Given the description of an element on the screen output the (x, y) to click on. 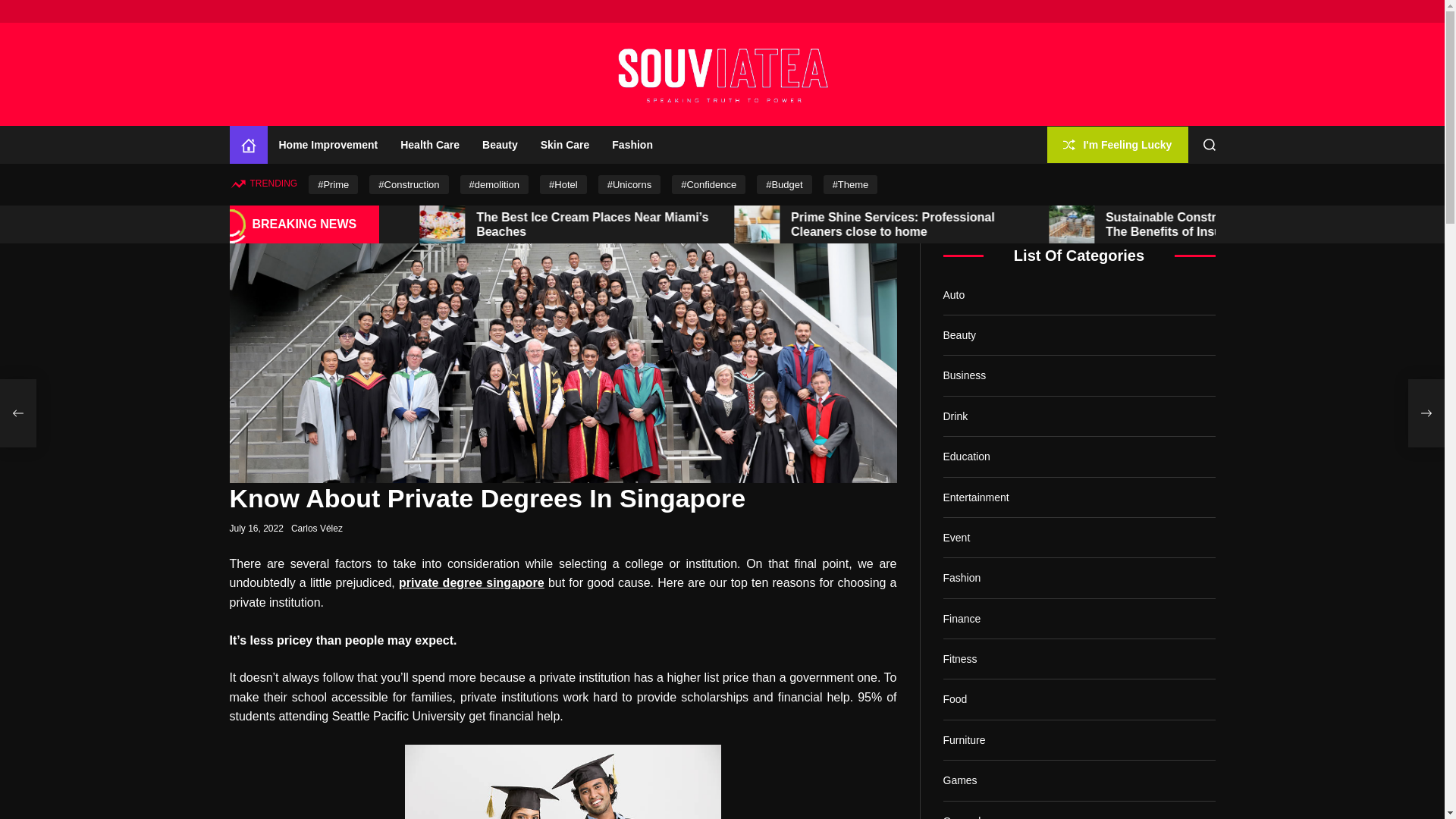
Home Improvement (327, 144)
Fashion (631, 144)
I'm Feeling Lucky (1117, 144)
Home (247, 144)
Beauty (499, 144)
How to Identify Upcoming Real Estate Hotspots (557, 223)
Prime Shine Services: Professional Cleaners close to home (1170, 223)
Health Care (429, 144)
Skin Care (565, 144)
Search (1208, 144)
